Given the description of an element on the screen output the (x, y) to click on. 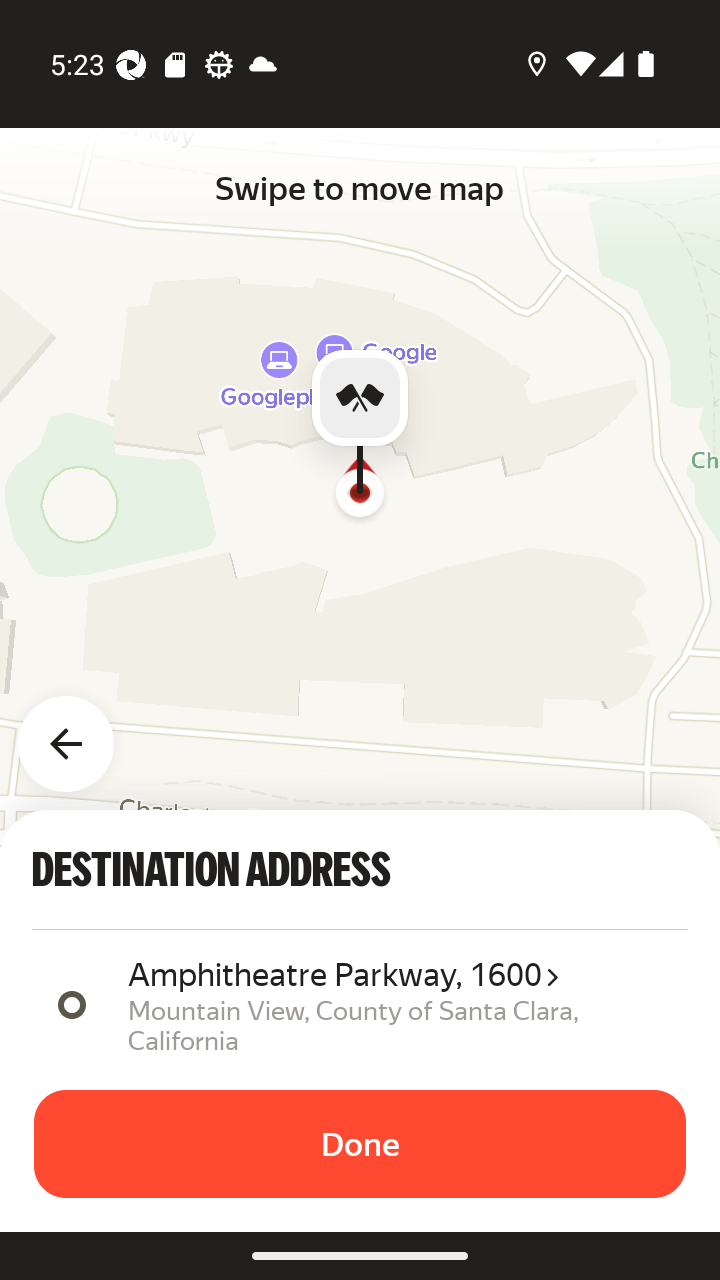
Back (78, 732)
Done (359, 1144)
